Given the description of an element on the screen output the (x, y) to click on. 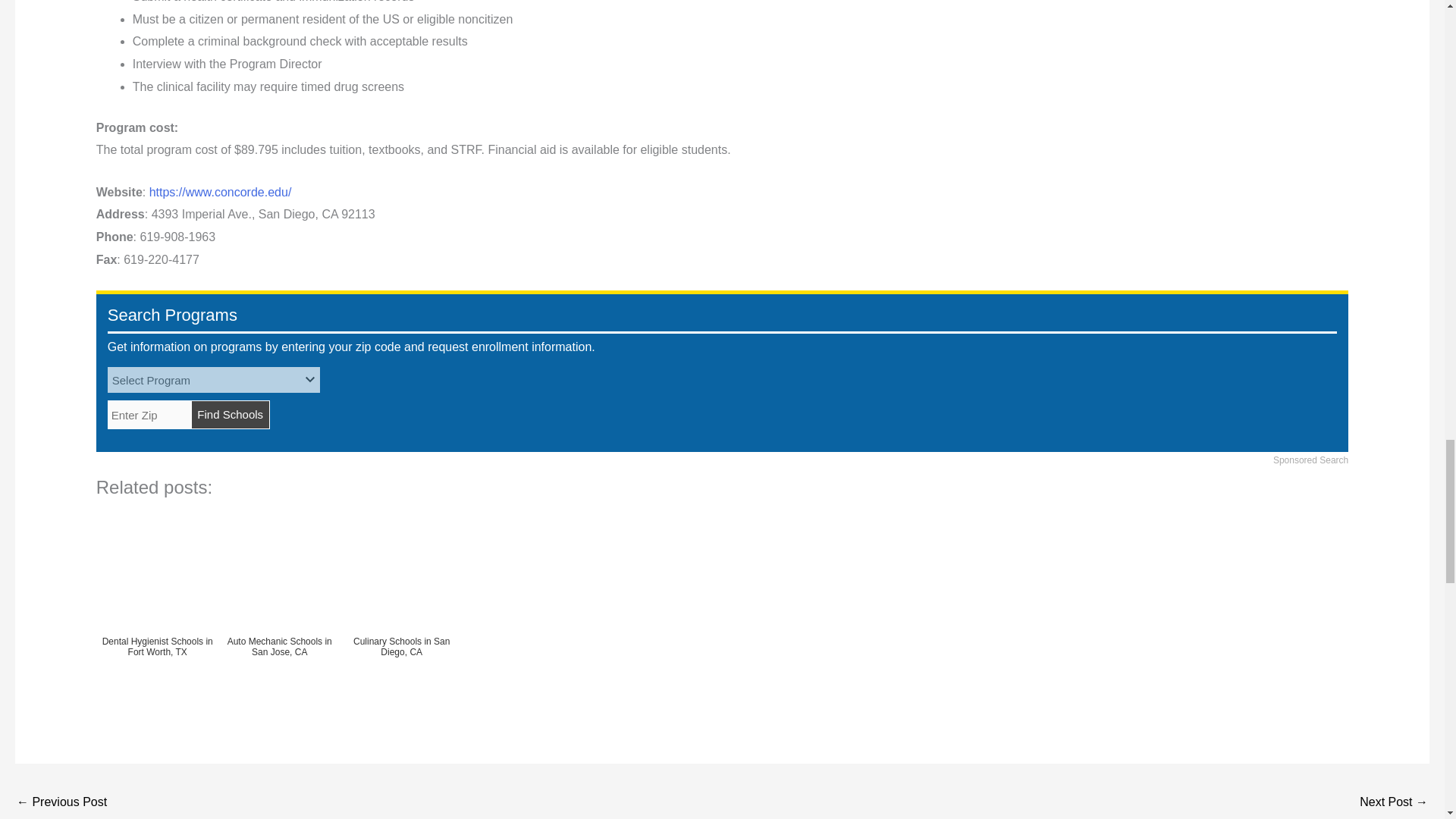
Find Schools (229, 414)
HVAC Schools in San Diego, CA (1393, 803)
Find Schools (229, 414)
Culinary Schools in San Diego, CA (61, 803)
